Given the description of an element on the screen output the (x, y) to click on. 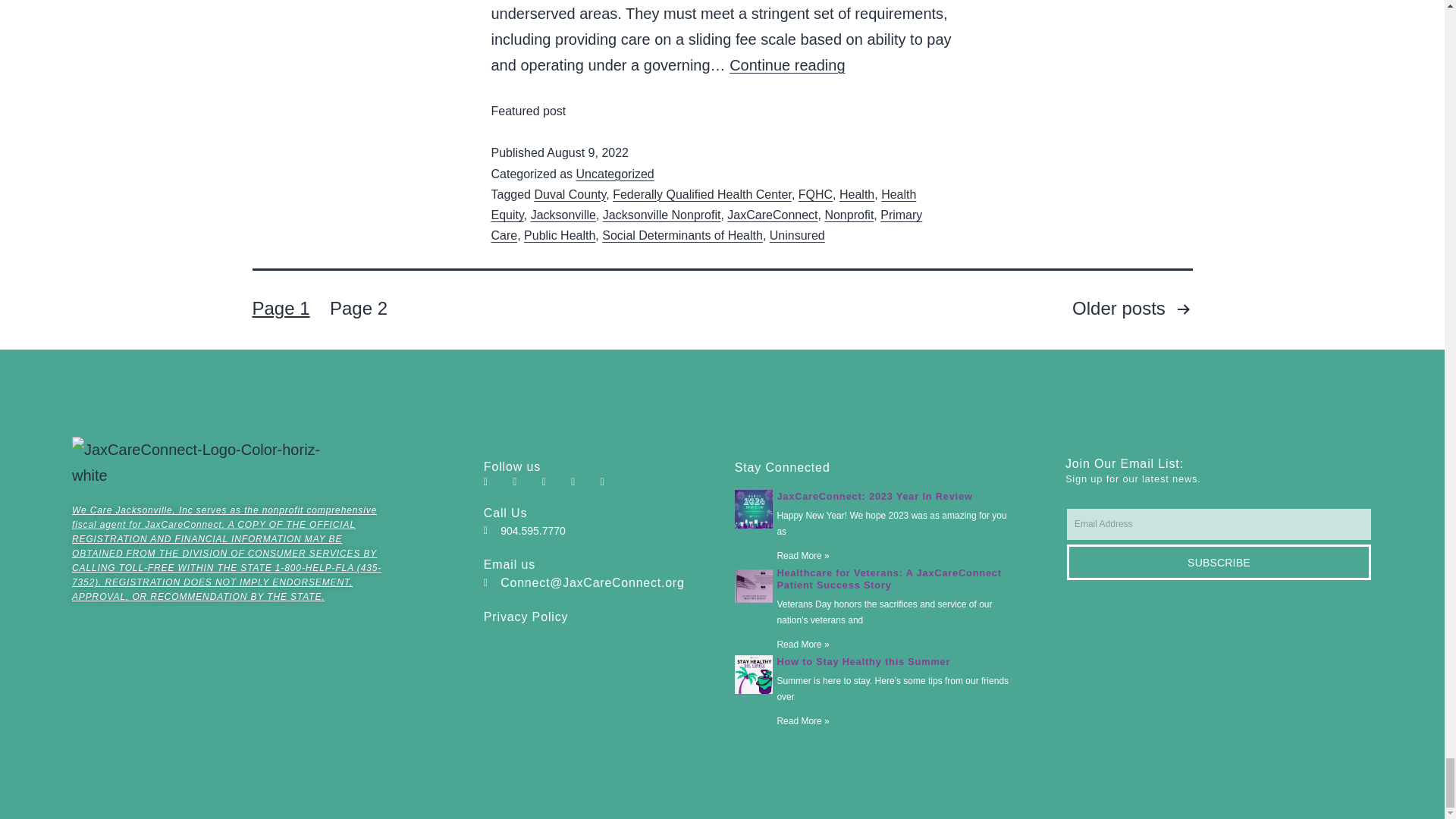
JaxCareConnect-Logo-Color-horiz-white (203, 462)
